Given the description of an element on the screen output the (x, y) to click on. 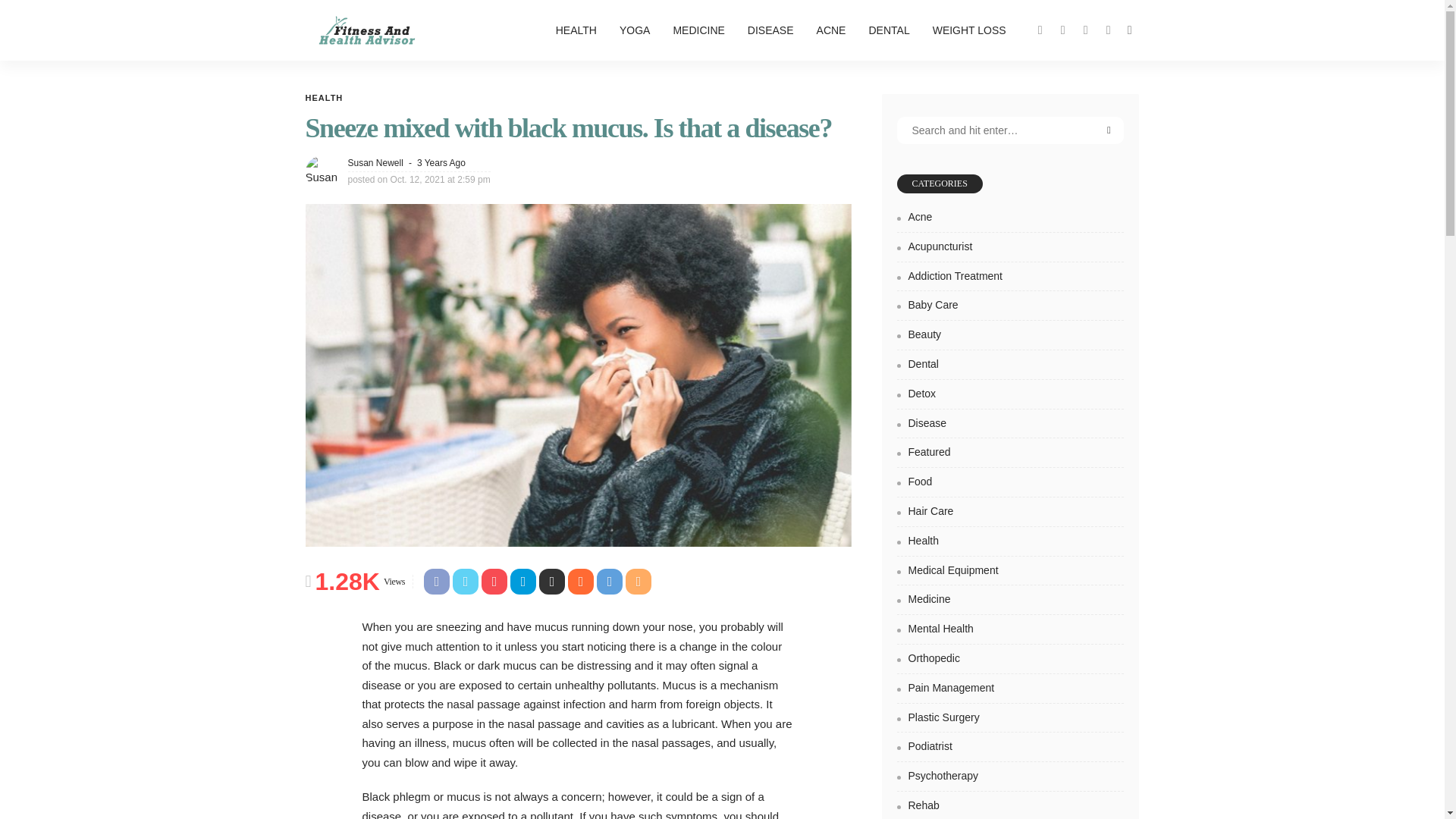
HEALTH (323, 98)
search for: (1010, 130)
WEIGHT LOSS (969, 30)
MEDICINE (698, 30)
fitness and health advisor (366, 30)
Health (323, 98)
DENTAL (888, 30)
Susan Newell (375, 162)
HEALTH (576, 30)
DISEASE (770, 30)
